Given the description of an element on the screen output the (x, y) to click on. 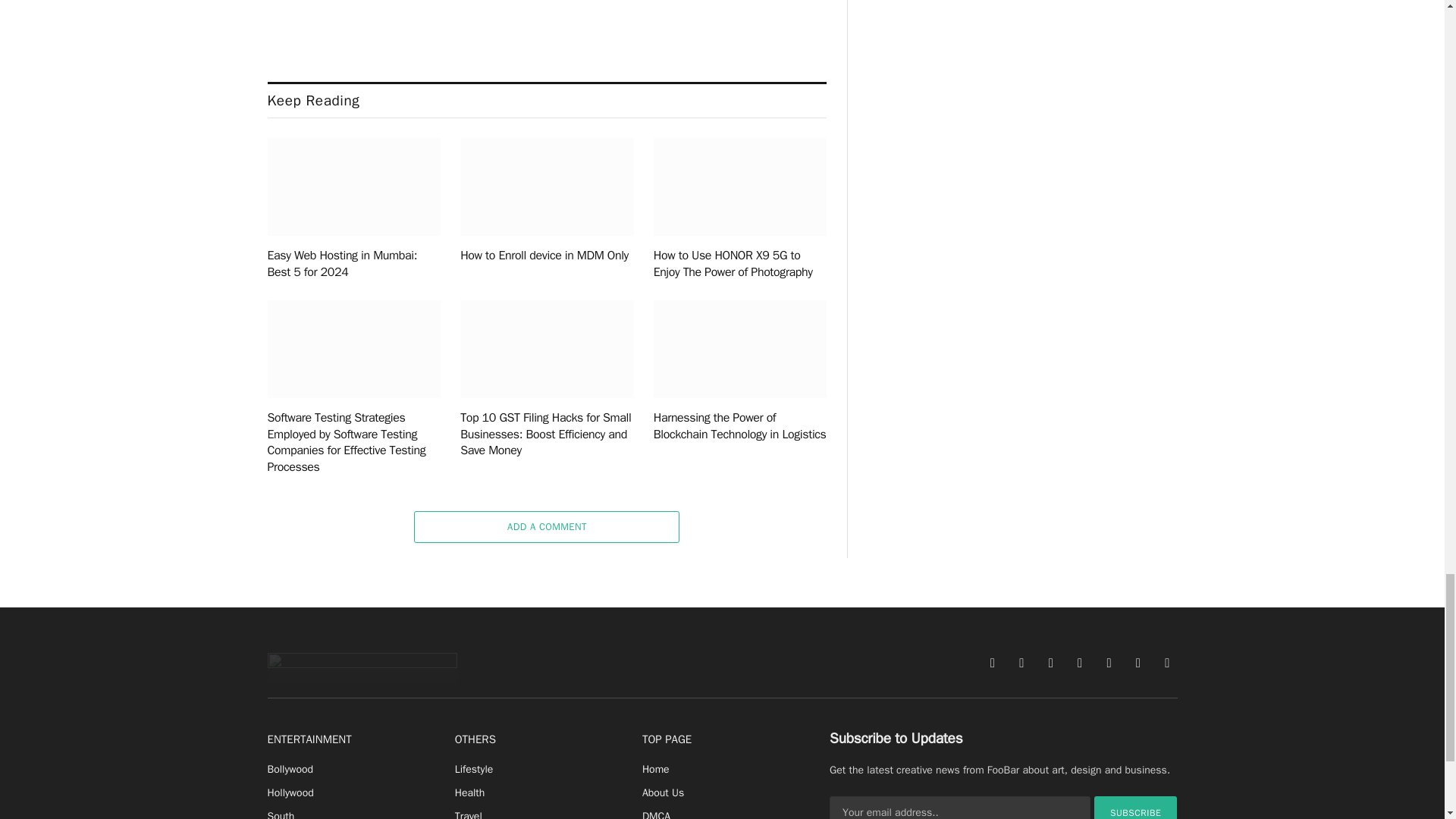
Subscribe (1135, 807)
